Given the description of an element on the screen output the (x, y) to click on. 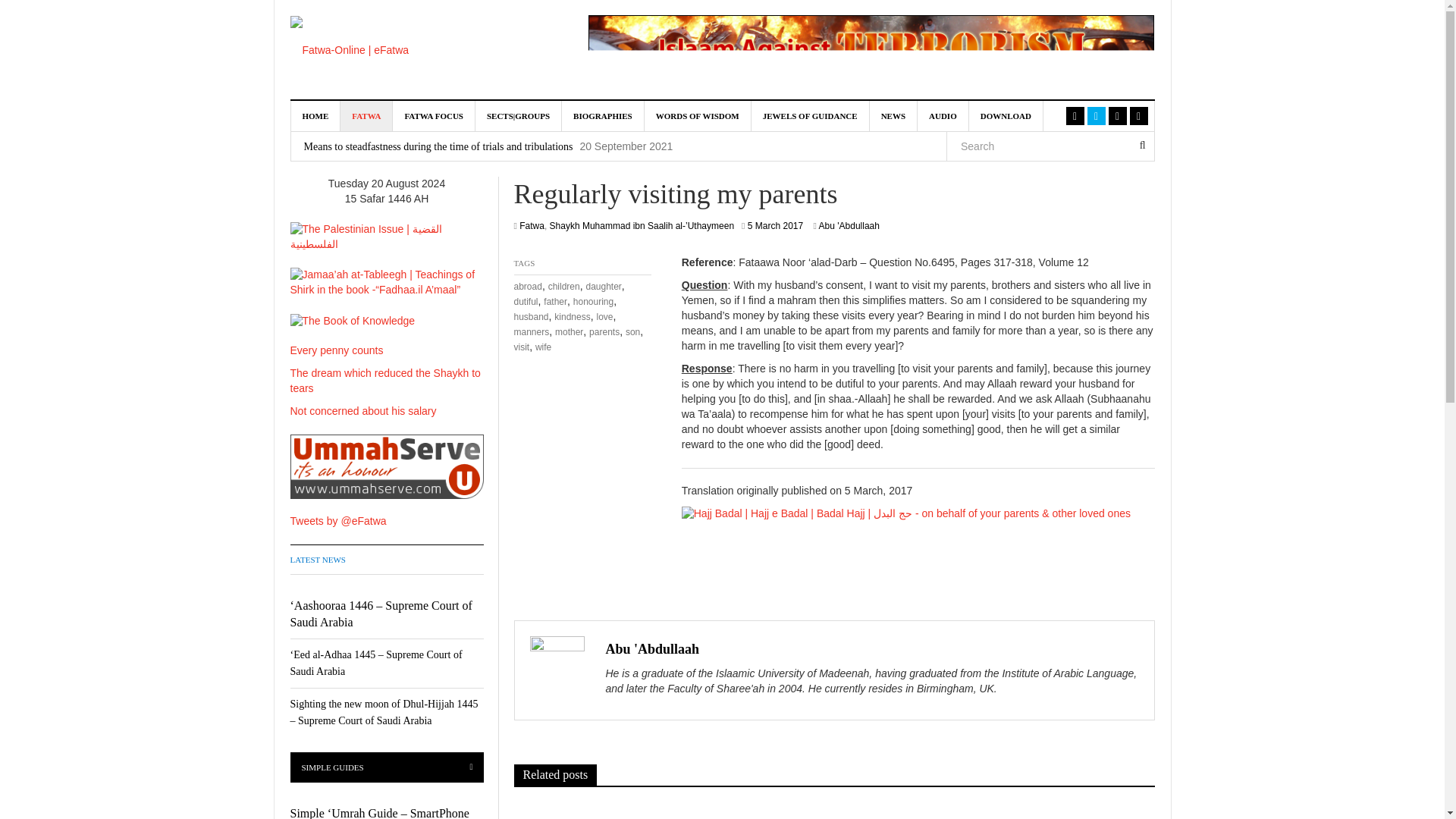
Islaam Against Terrorism (871, 48)
Posts by Abu 'Abdullaah (651, 648)
The Book of Knowledge (351, 321)
FATWA (366, 115)
HOME (315, 115)
